Given the description of an element on the screen output the (x, y) to click on. 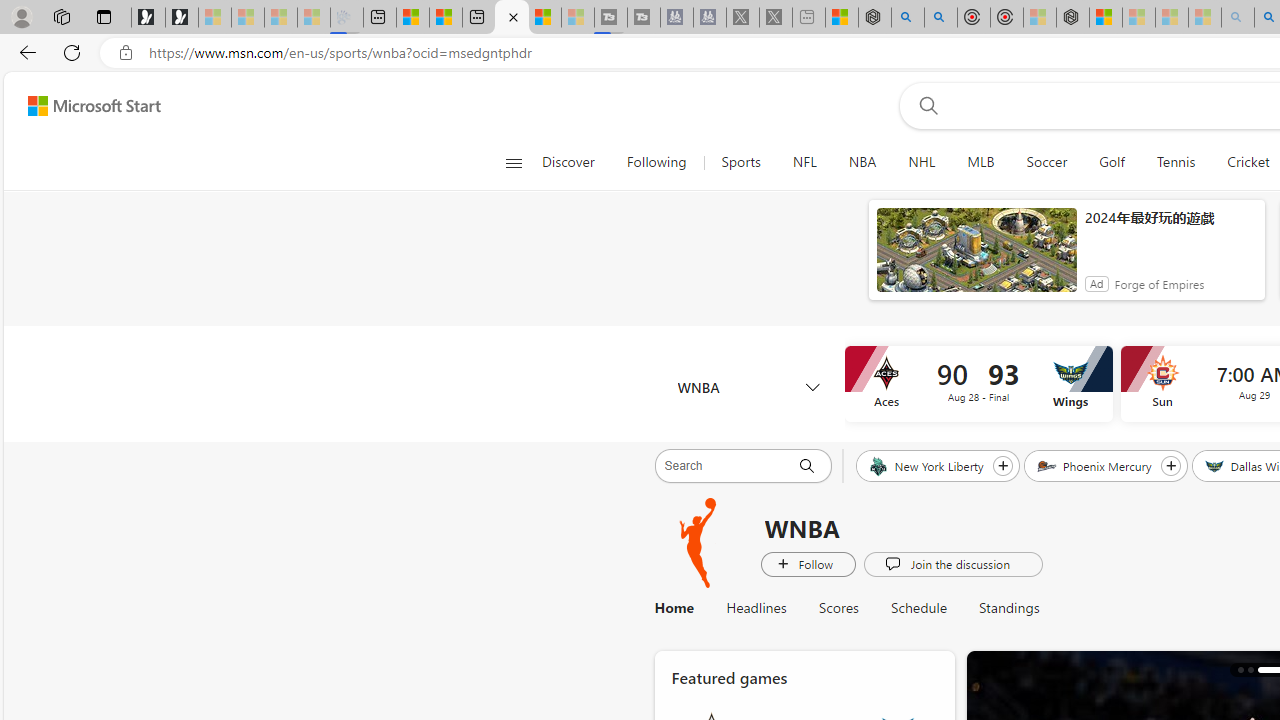
amazon - Search - Sleeping (1238, 17)
NFL (804, 162)
Schedule (919, 607)
Aces 90 vs Wings 93Final Date Aug 28 (978, 383)
anim-content (975, 258)
Join the discussion (952, 563)
Tennis (1176, 162)
poe ++ standard - Search (941, 17)
Nordace - Nordace Siena Is Not An Ordinary Backpack (1073, 17)
Follow Phoenix Mercury (1170, 465)
